Given the description of an element on the screen output the (x, y) to click on. 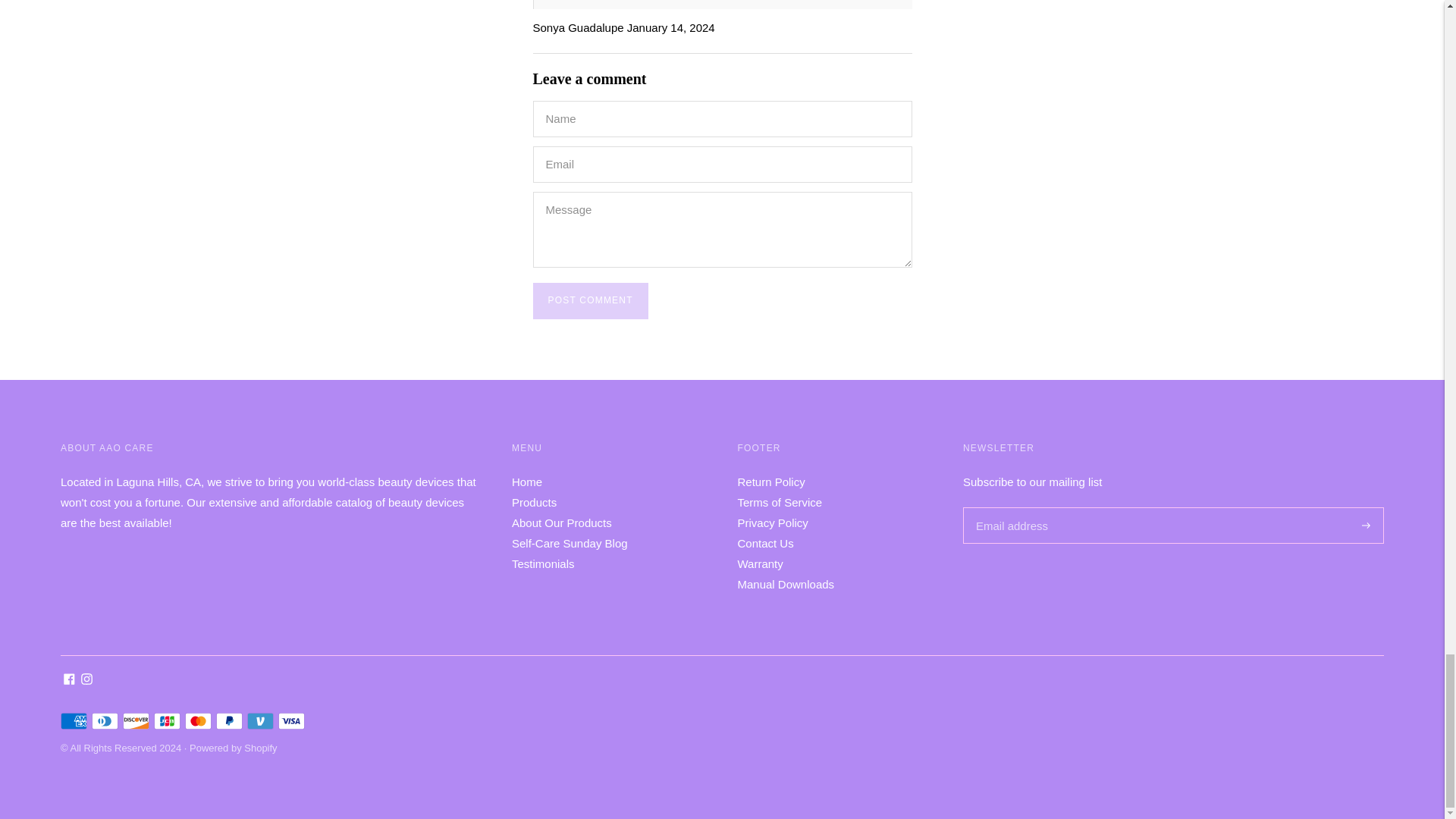
PayPal (229, 720)
Diners Club (104, 720)
JCB (167, 720)
Discover (135, 720)
Visa (291, 720)
Venmo (260, 720)
Mastercard (197, 720)
American Express (74, 720)
